Given the description of an element on the screen output the (x, y) to click on. 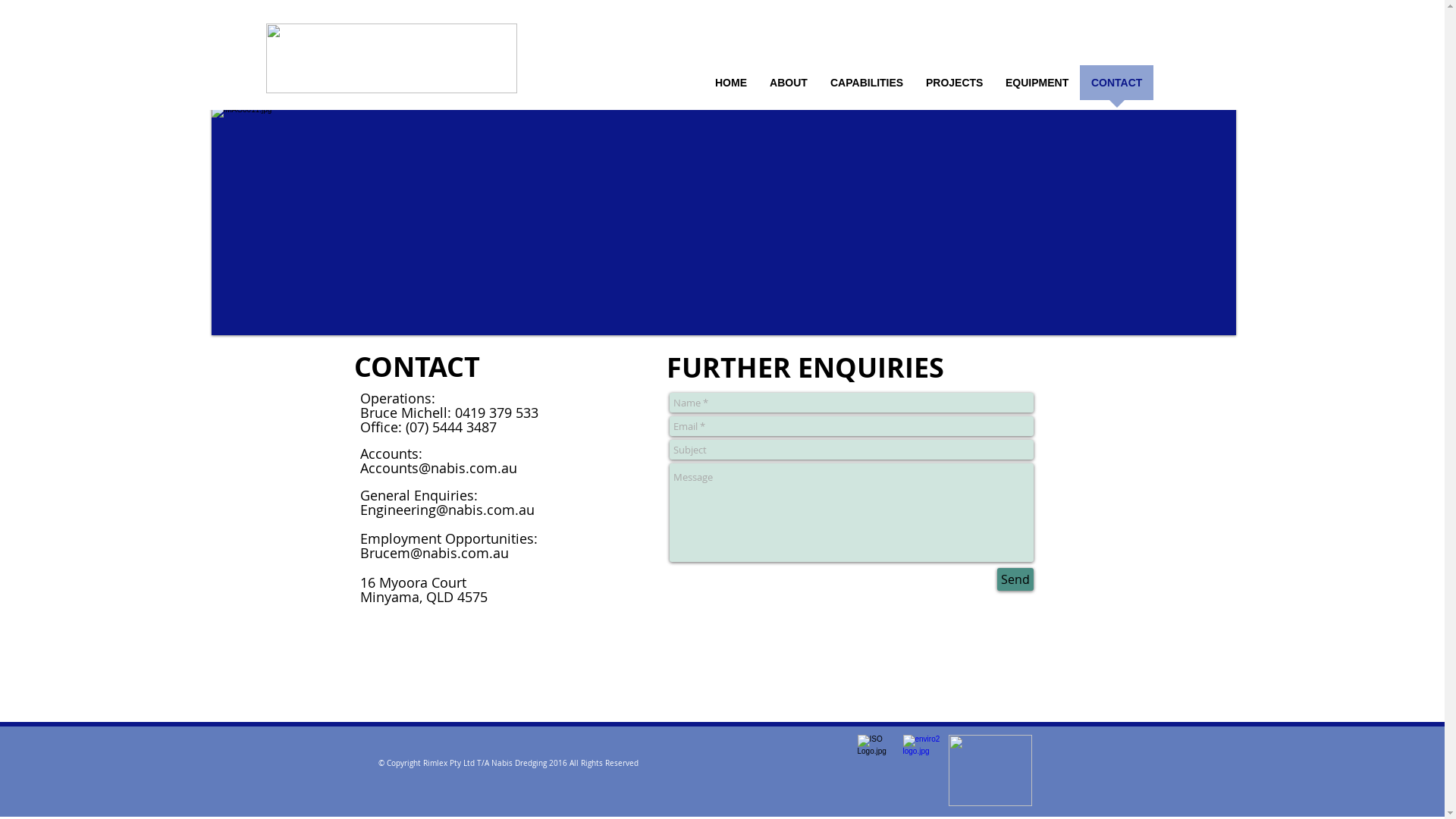
Send Element type: text (1014, 578)
Accounts@nabis.com.au Element type: text (437, 467)
CAPABILITIES Element type: text (866, 87)
HOME Element type: text (730, 87)
PROJECTS Element type: text (954, 87)
ABOUT Element type: text (788, 87)
CONTACT Element type: text (1116, 87)
Engineering@nabis.com.au Element type: text (446, 509)
EQUIPMENT Element type: text (1036, 87)
Brucem@nabis.com.au Element type: text (433, 552)
